Given the description of an element on the screen output the (x, y) to click on. 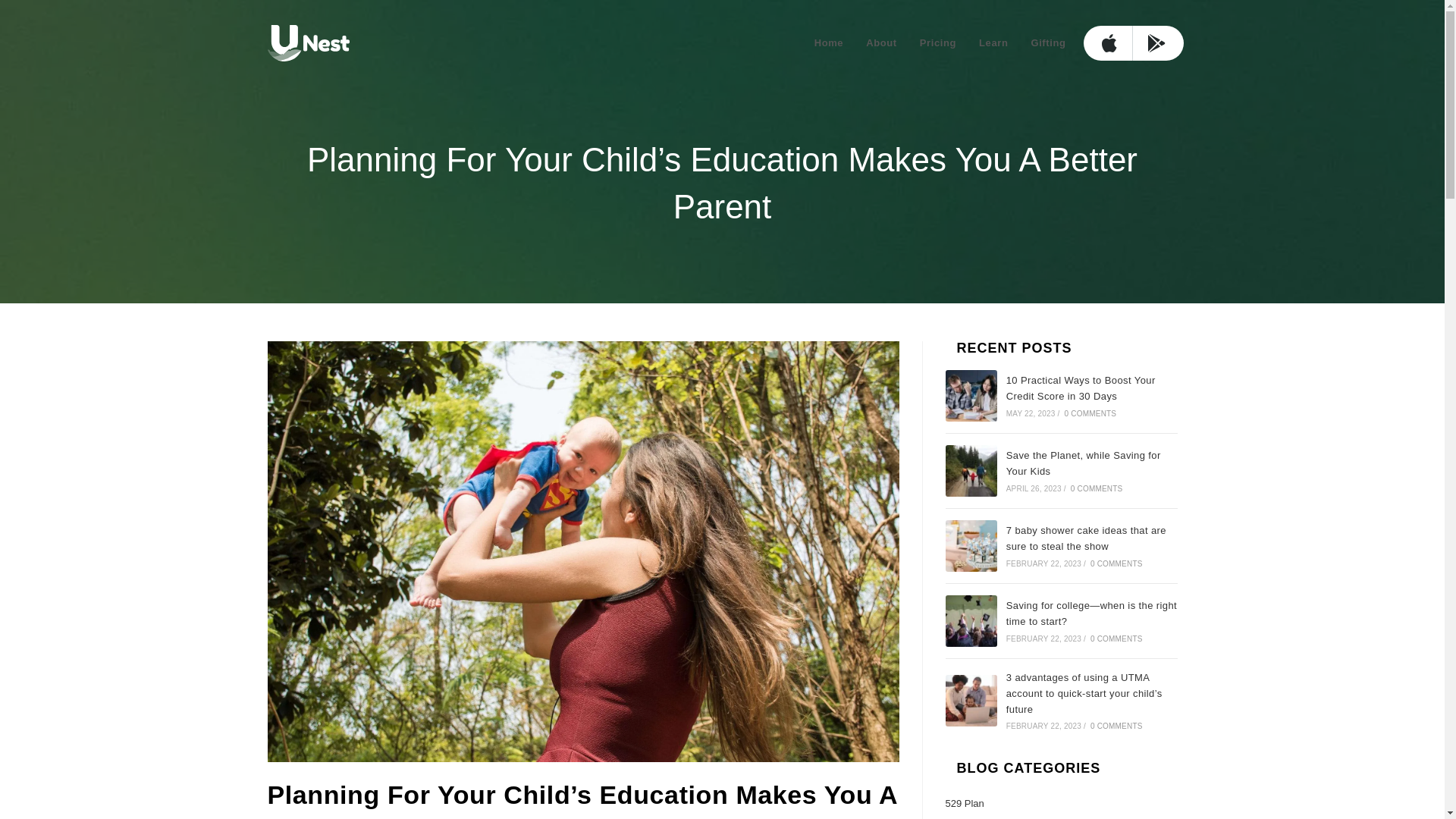
Pricing (938, 43)
10 Practical Ways to Boost Your Credit Score in 30 Days (969, 395)
About (881, 43)
Gifting (1048, 43)
Learn (993, 43)
7 baby shower cake ideas that are sure to steal the show (969, 545)
Home (829, 43)
Save the Planet, while Saving for Your Kids (969, 470)
